Given the description of an element on the screen output the (x, y) to click on. 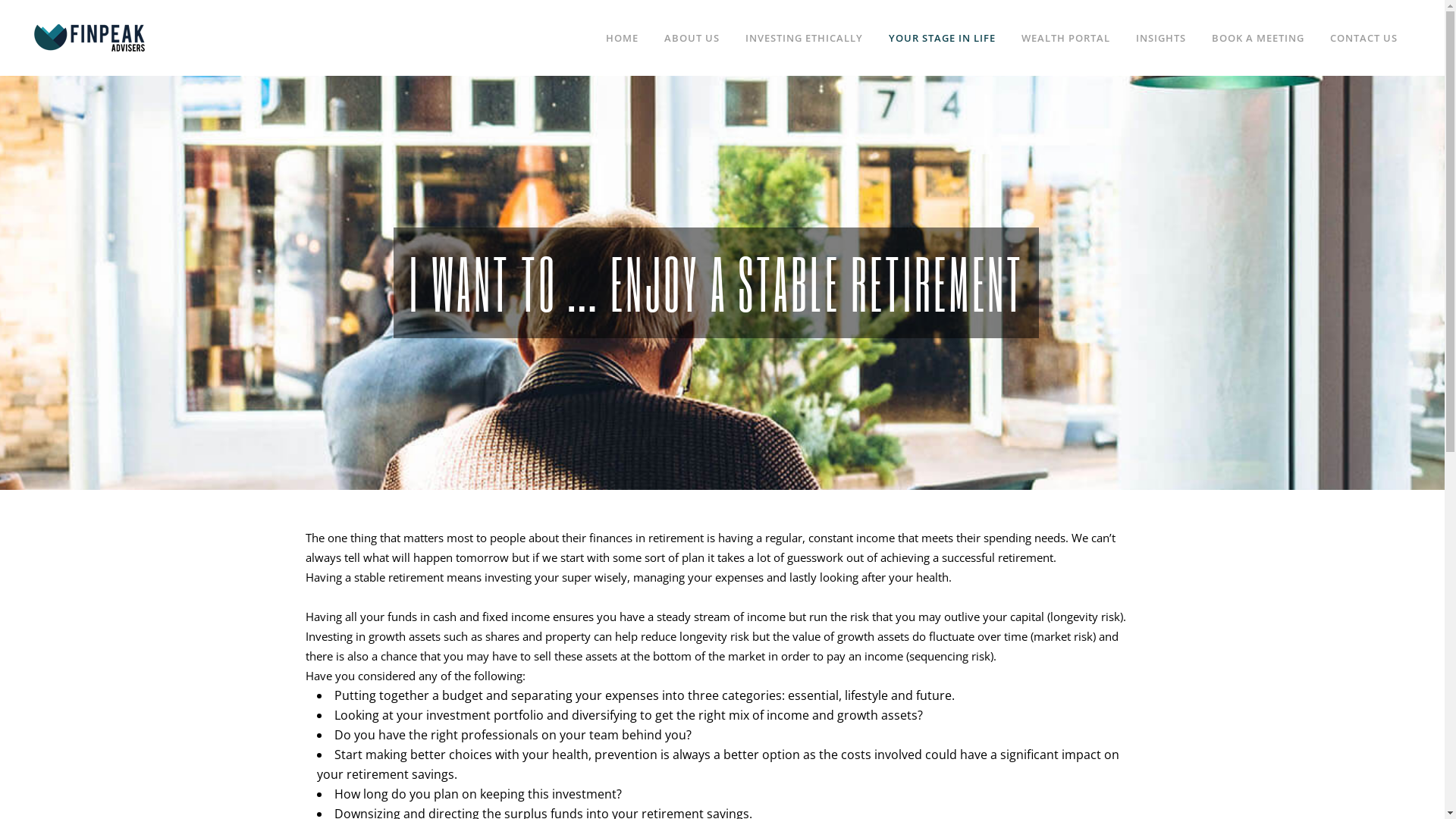
BOOK A MEETING Element type: text (1257, 37)
YOUR STAGE IN LIFE Element type: text (941, 37)
ABOUT US Element type: text (691, 37)
HOME Element type: text (622, 37)
WEALTH PORTAL Element type: text (1065, 37)
CONTACT US Element type: text (1363, 37)
INVESTING ETHICALLY Element type: text (803, 37)
INSIGHTS Element type: text (1160, 37)
